Given the description of an element on the screen output the (x, y) to click on. 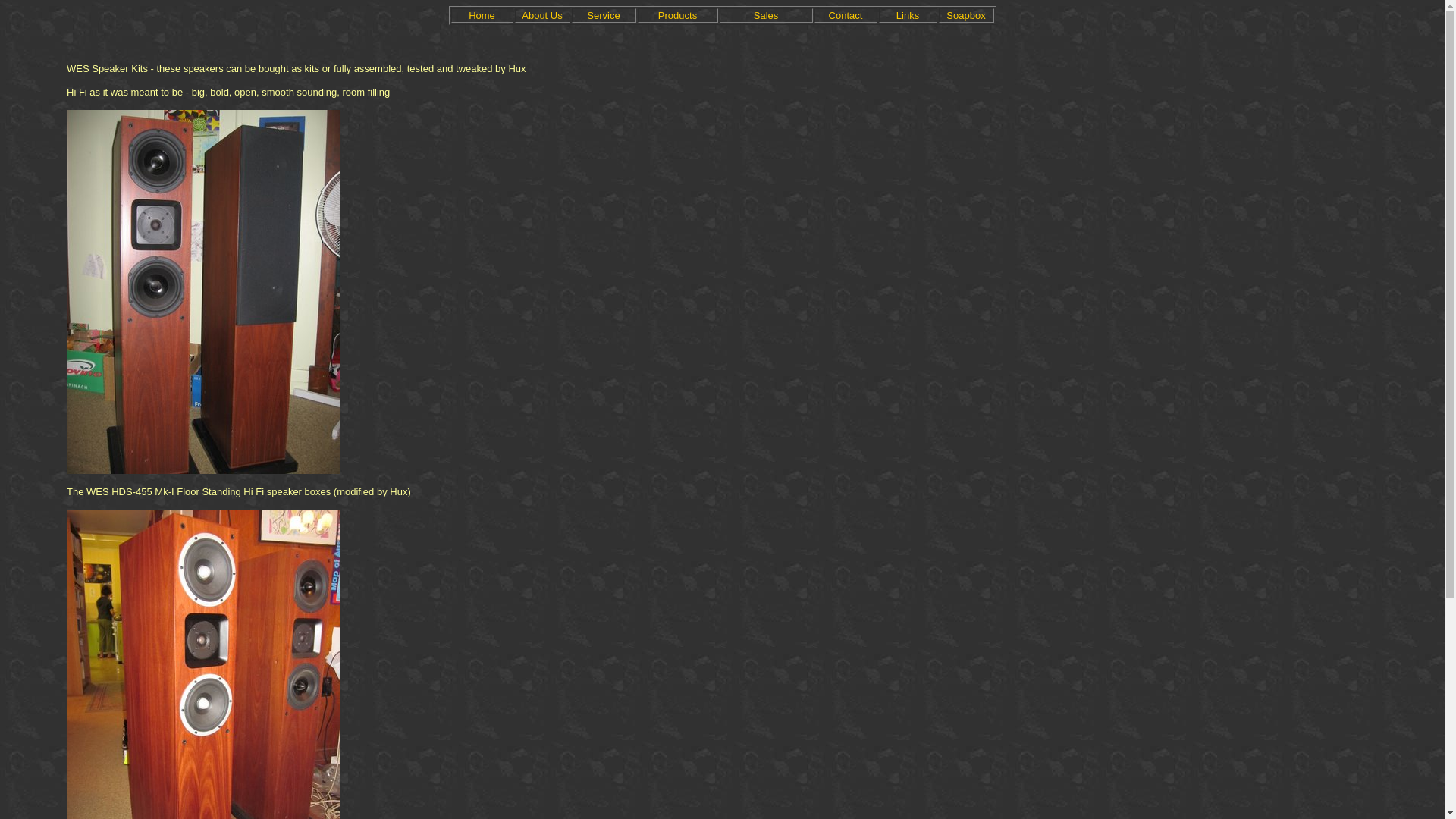
Products Element type: text (677, 16)
Sales Element type: text (765, 16)
Soapbox Element type: text (965, 16)
Links Element type: text (907, 16)
Service Element type: text (602, 16)
About Us Element type: text (541, 16)
Home Element type: text (481, 16)
Contact Element type: text (845, 16)
